Given the description of an element on the screen output the (x, y) to click on. 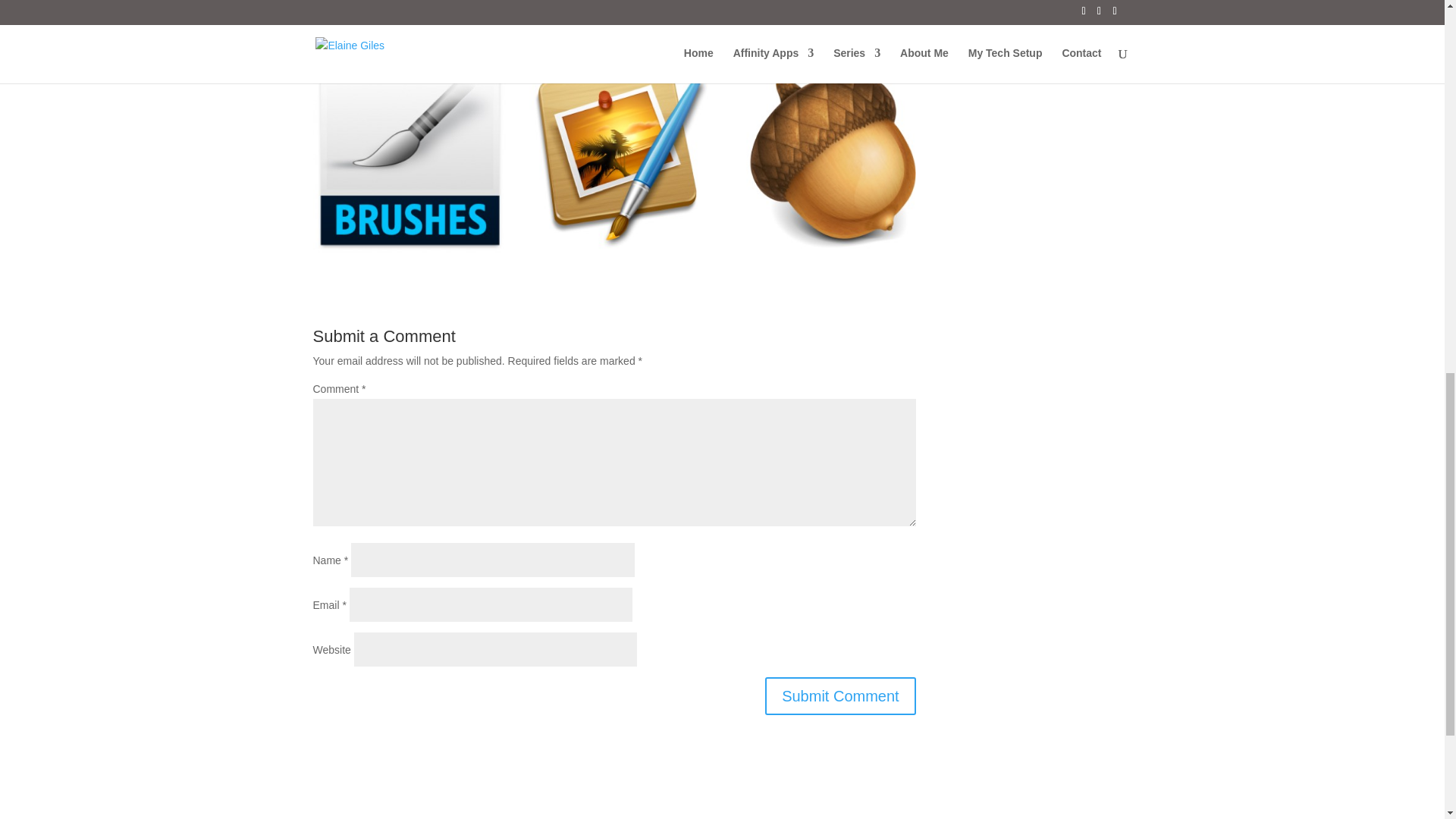
Submit Comment (840, 695)
YouTube live stream (607, 9)
Submit Comment (840, 695)
Eventbrite (454, 39)
Elaine Giles Free Live Training (607, 9)
Free Photoshop Brushes training (454, 39)
